Given the description of an element on the screen output the (x, y) to click on. 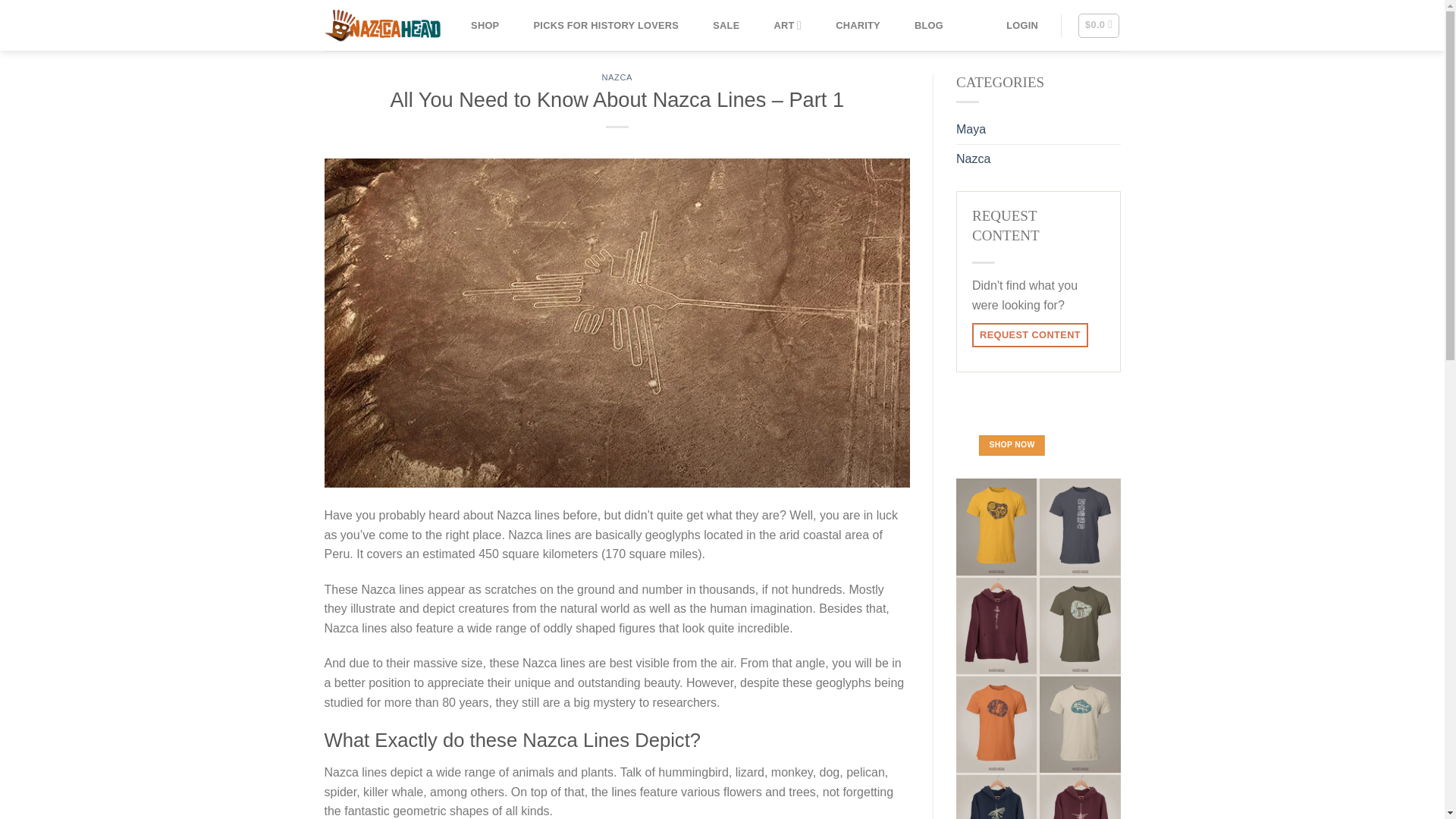
SALE (726, 24)
REQUEST CONTENT (1029, 334)
SHOP (485, 24)
ART (788, 24)
Maya (970, 129)
Cart (1098, 25)
SHOP NOW (1011, 444)
Nazca (973, 158)
LOGIN (1021, 24)
PICKS FOR HISTORY LOVERS (605, 24)
